Given the description of an element on the screen output the (x, y) to click on. 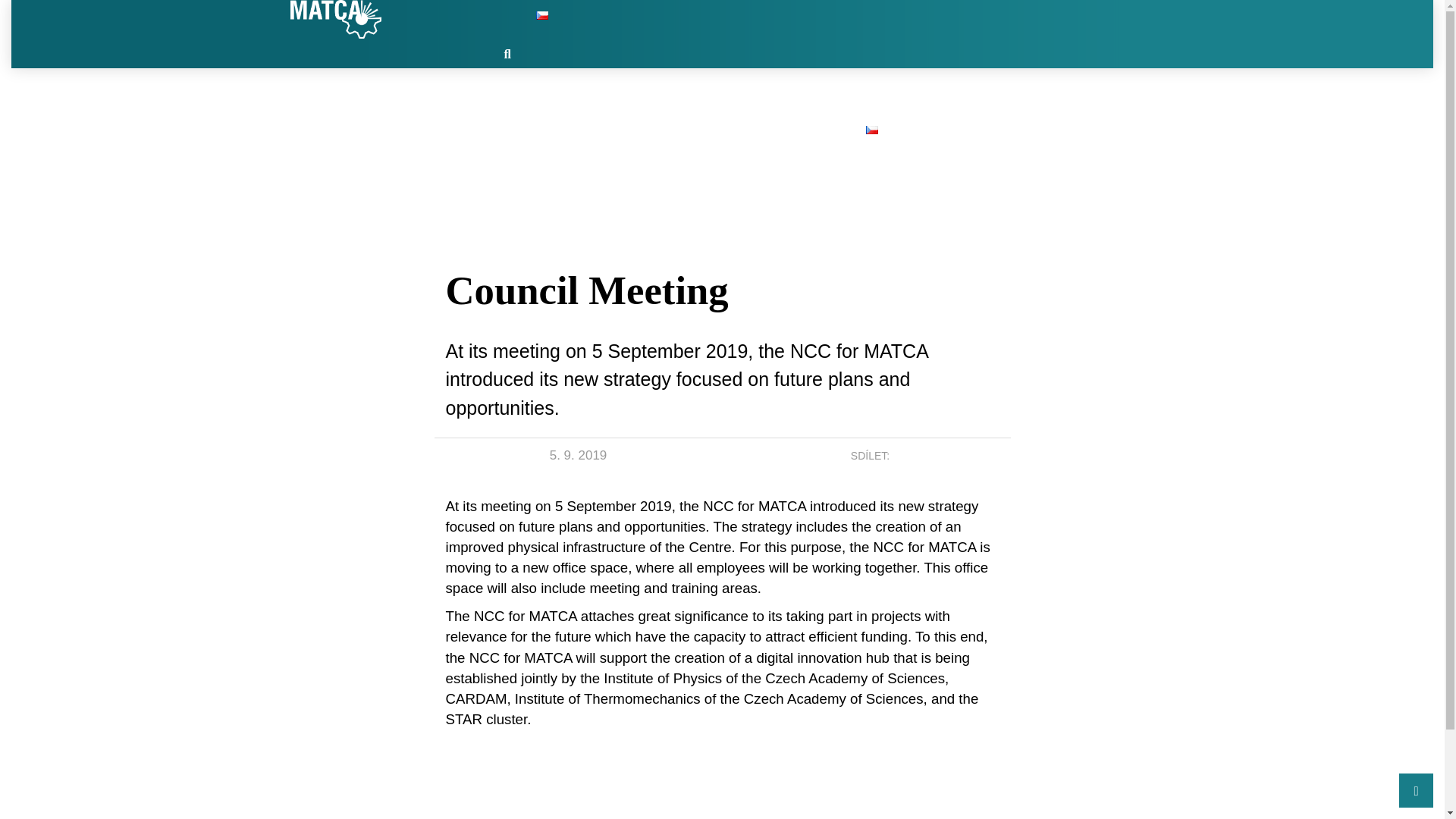
Home (503, 98)
Events (815, 98)
About us (571, 98)
Technologies (659, 98)
MATCA (334, 19)
Contact (882, 98)
Services (746, 98)
